Given the description of an element on the screen output the (x, y) to click on. 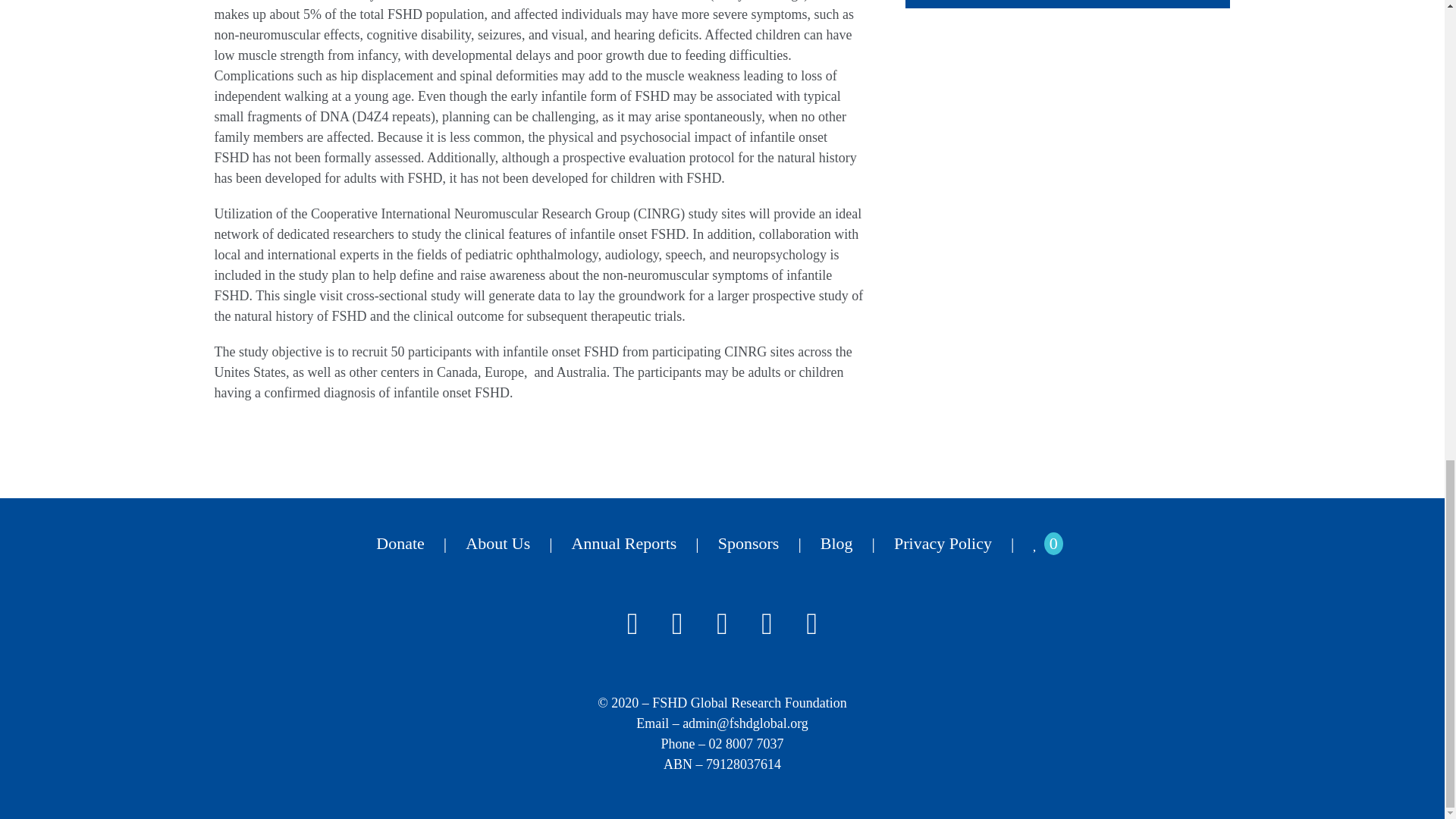
img-fshd-global-research (1067, 4)
